Given the description of an element on the screen output the (x, y) to click on. 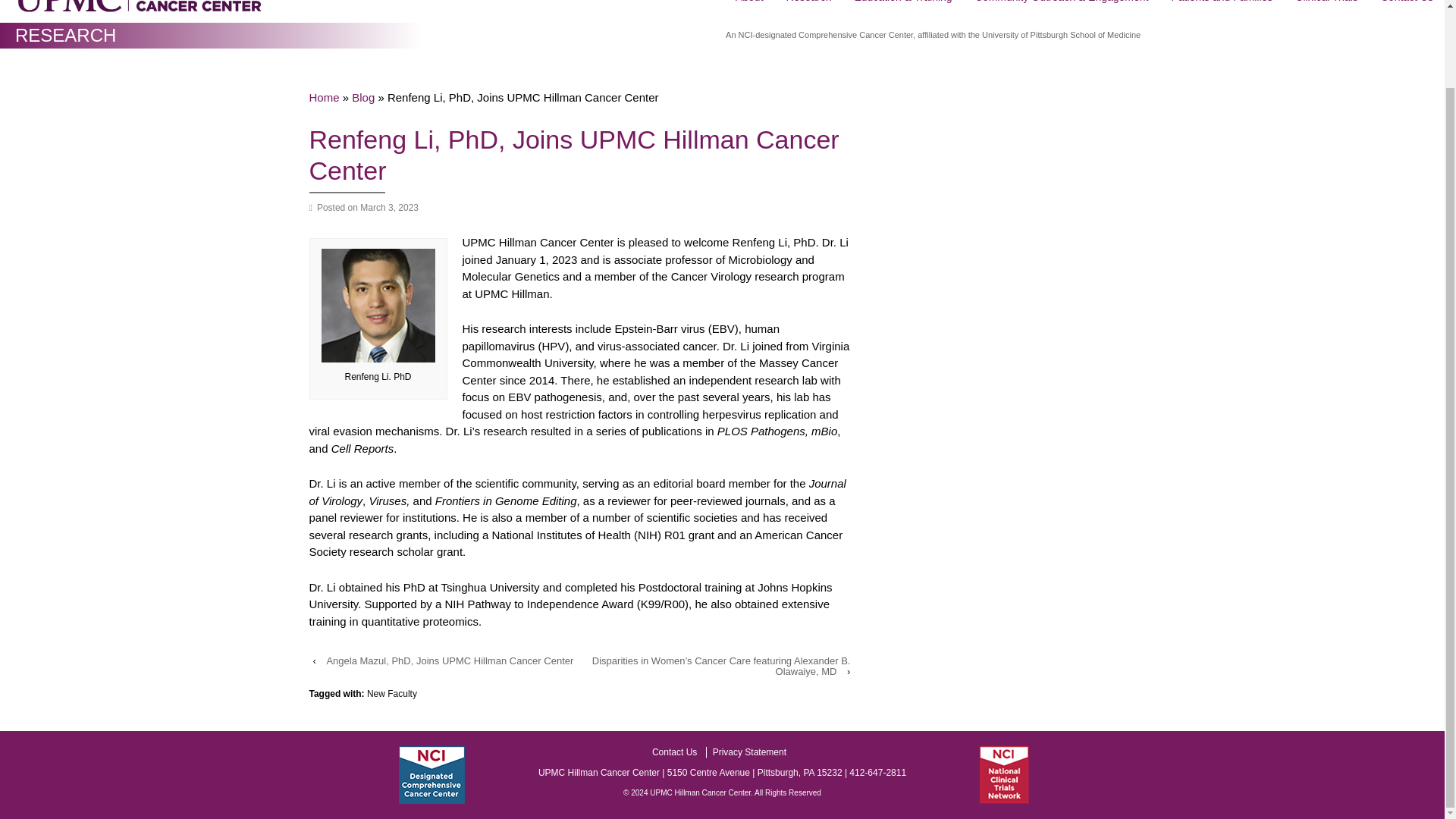
About (748, 7)
UPMC Hillman Cancer Center (700, 792)
Research (808, 7)
